Given the description of an element on the screen output the (x, y) to click on. 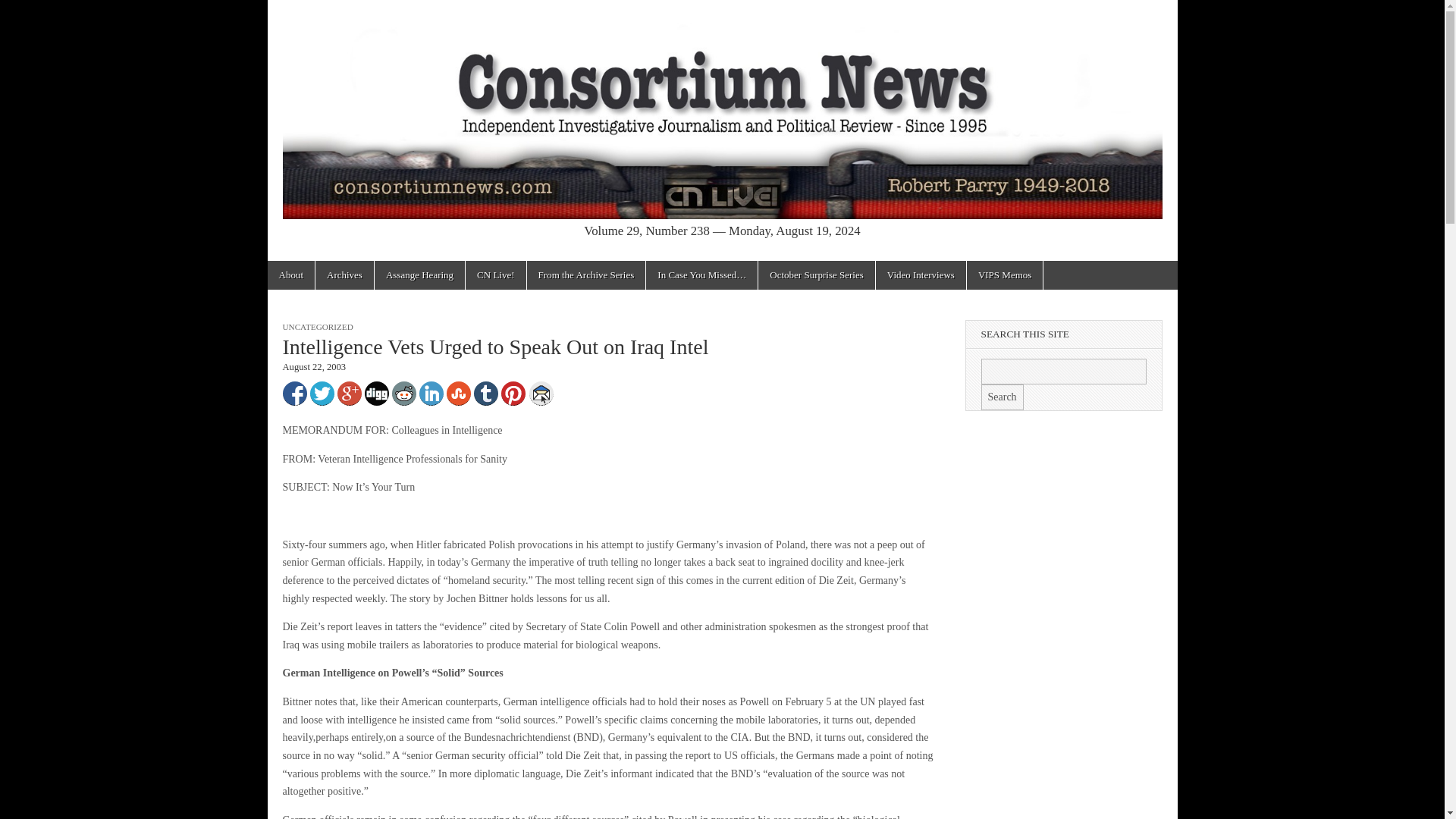
Share to Tumblr (485, 393)
Share to Twitter (320, 393)
VIPS Memos (1004, 275)
Search (1002, 397)
From the Archive Series (586, 275)
Share to Facebook (293, 393)
Email this article (541, 393)
CN Live! (495, 275)
UNCATEGORIZED (317, 326)
